Given the description of an element on the screen output the (x, y) to click on. 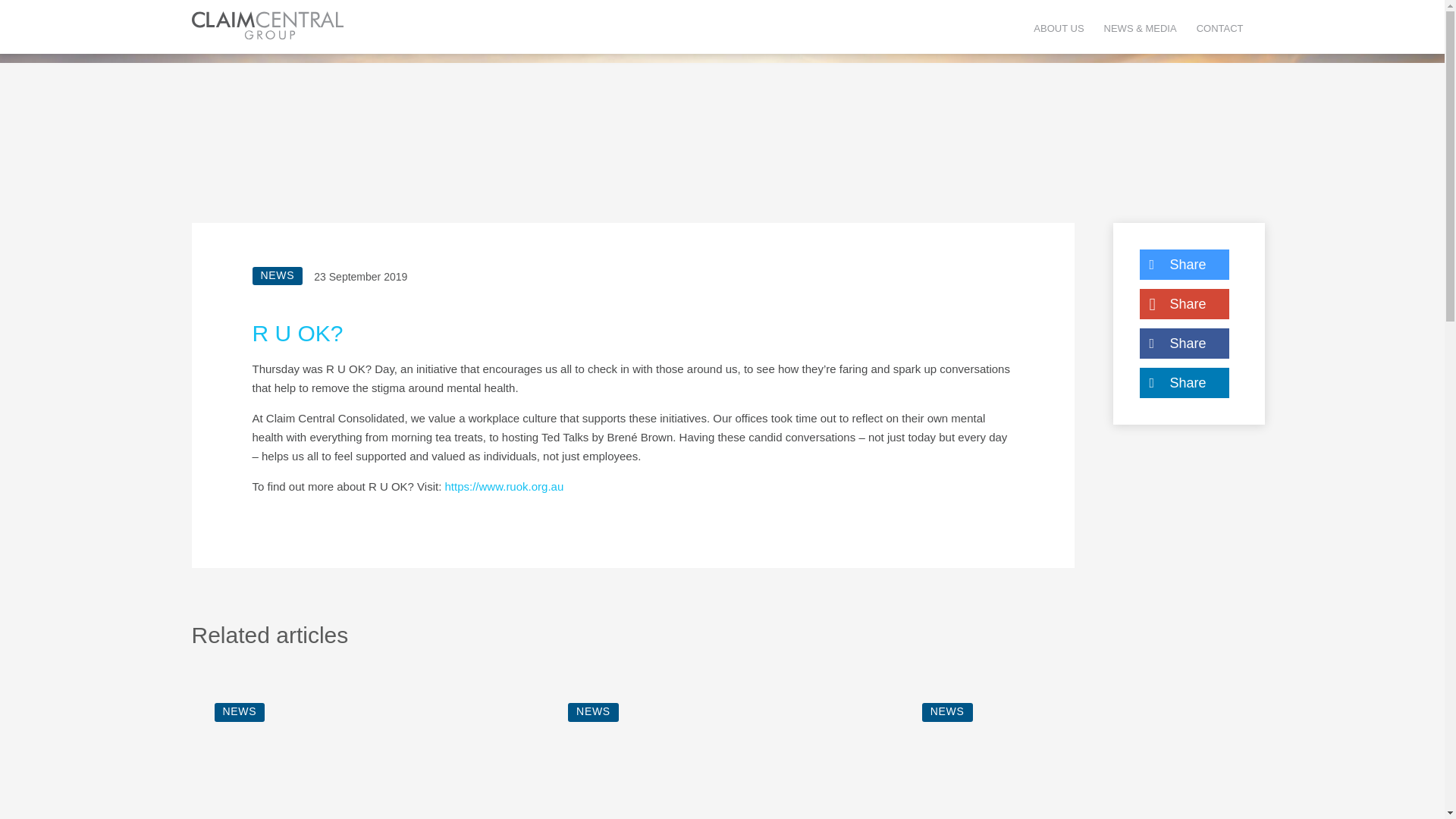
Share (1183, 264)
Share (1183, 343)
Share (1183, 382)
Share (1183, 304)
